Given the description of an element on the screen output the (x, y) to click on. 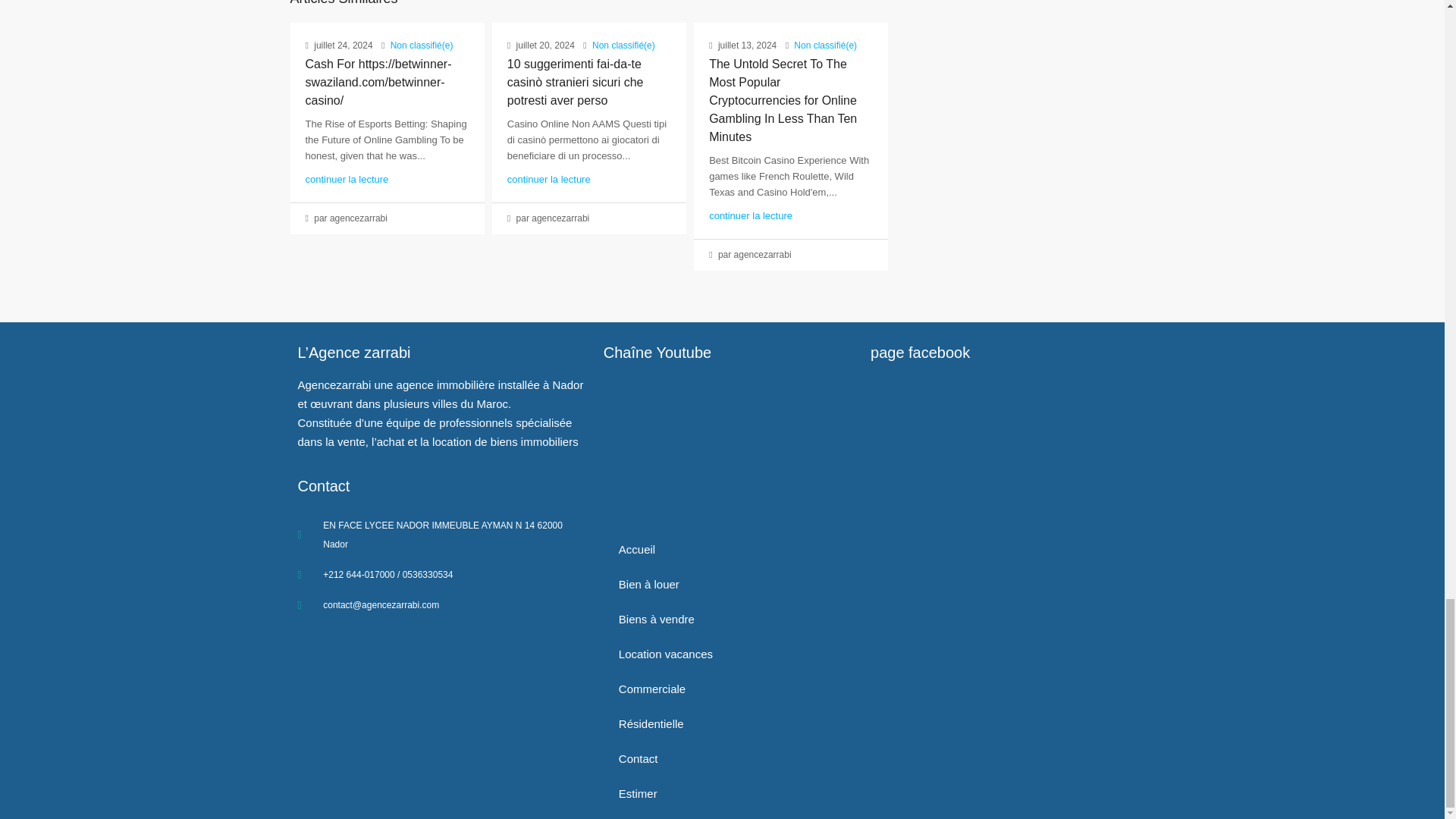
agencezarrabi (446, 695)
